Given the description of an element on the screen output the (x, y) to click on. 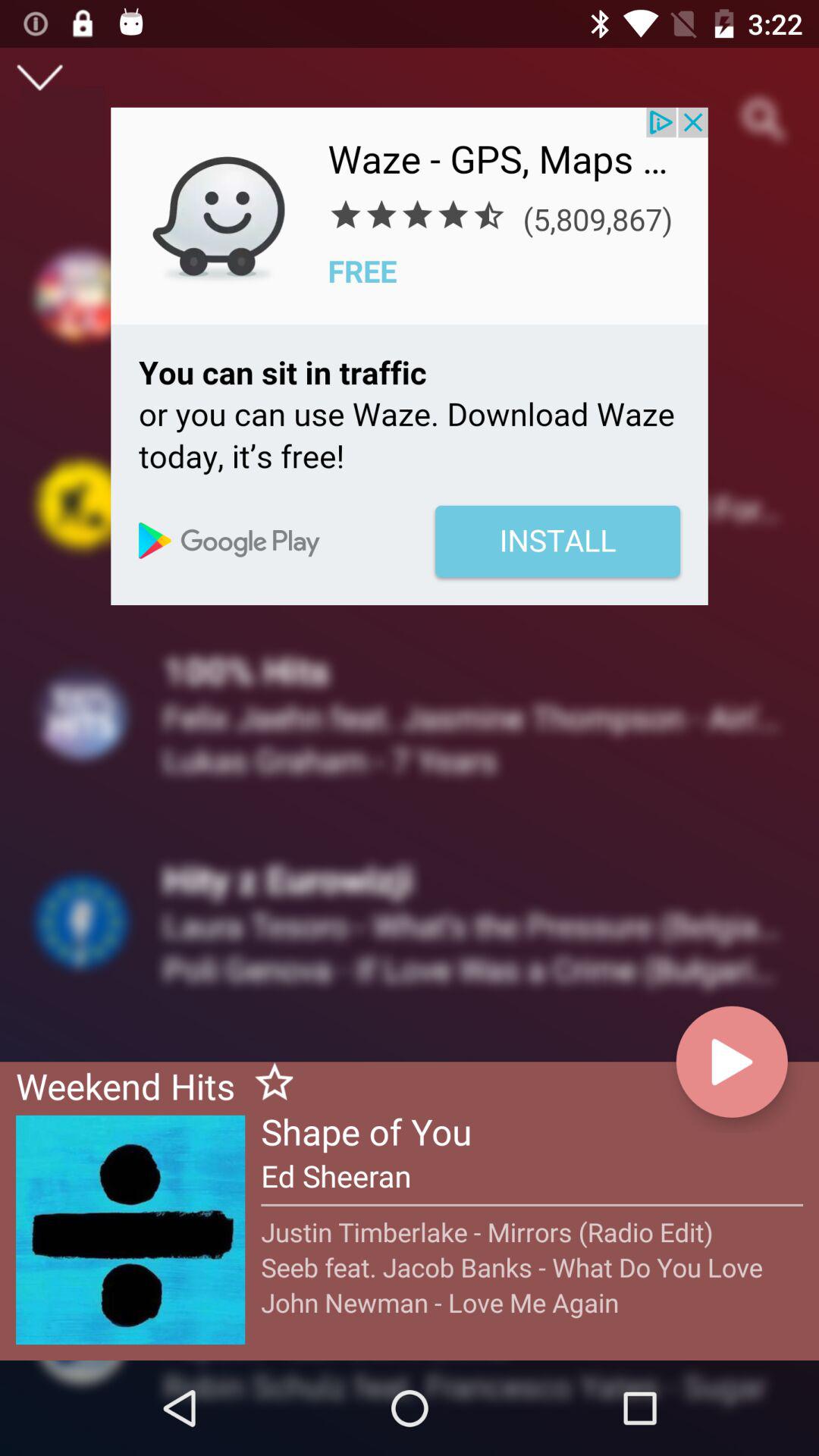
click on add (409, 356)
